Given the description of an element on the screen output the (x, y) to click on. 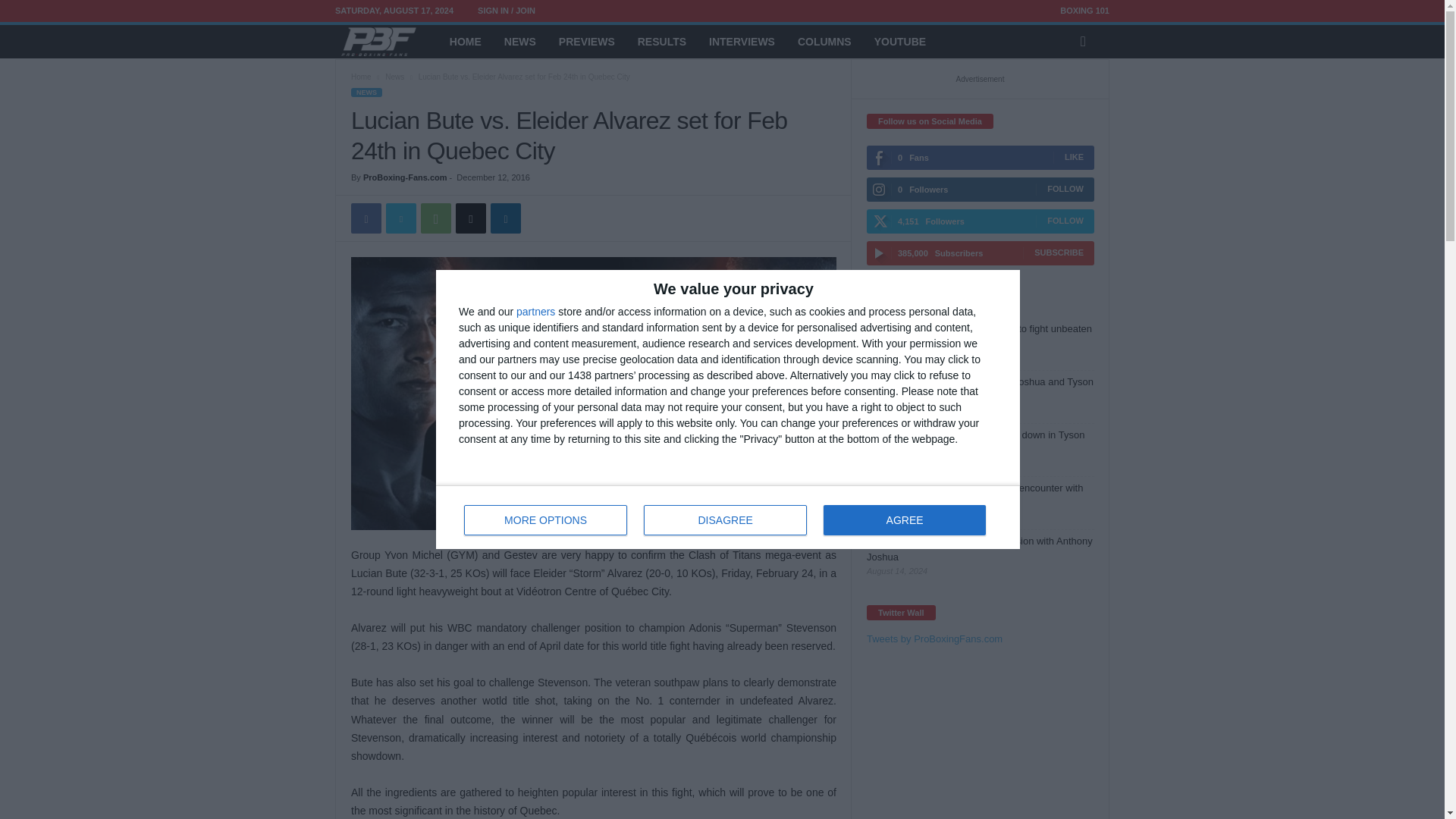
Email (470, 218)
Facebook (365, 218)
lucian-bute-vs-eleider-alvarez-poster (592, 393)
DISAGREE (724, 520)
BOXING 101 (1084, 10)
AGREE (727, 516)
View all posts in News (904, 520)
WhatsApp (394, 76)
Linkedin (435, 218)
